Given the description of an element on the screen output the (x, y) to click on. 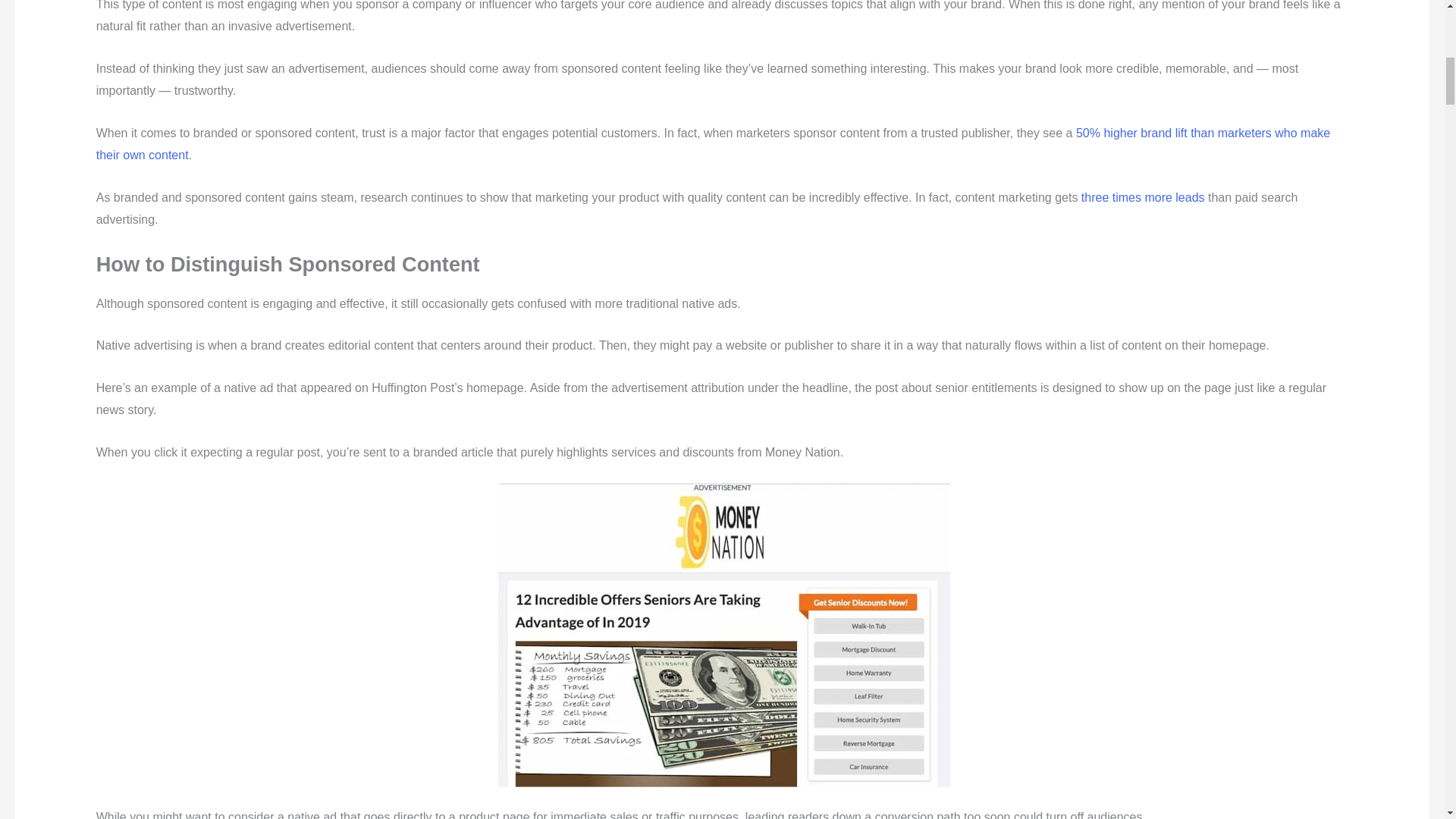
three times more leads (1143, 196)
